Given the description of an element on the screen output the (x, y) to click on. 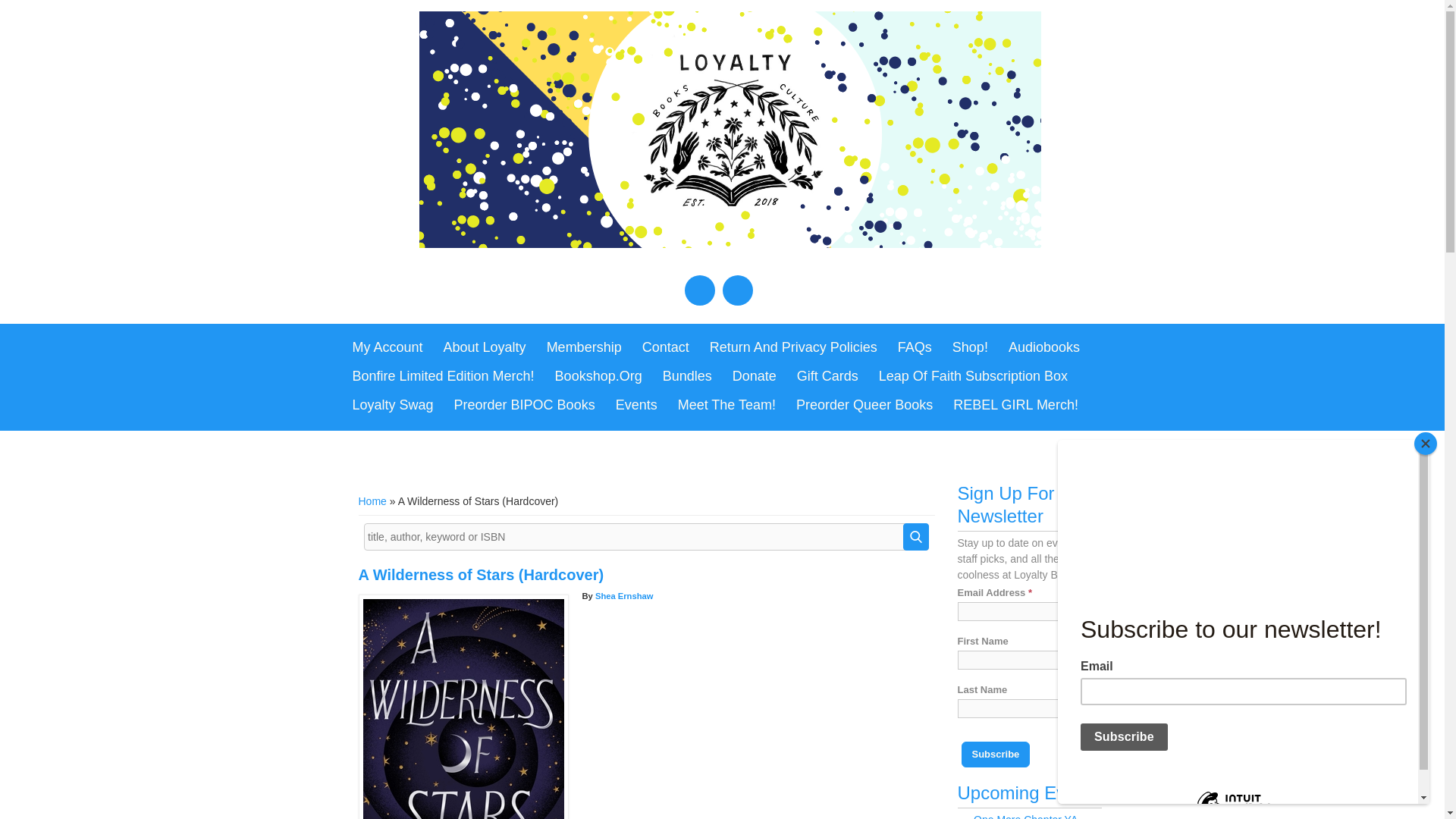
Gift Cards (827, 376)
My Account (386, 347)
Search (915, 536)
Events (636, 405)
Return And Privacy Policies (793, 347)
Enter the terms you wish to search for. (646, 536)
Subscribe (995, 754)
REBEL GIRL Merch! (1015, 405)
